Given the description of an element on the screen output the (x, y) to click on. 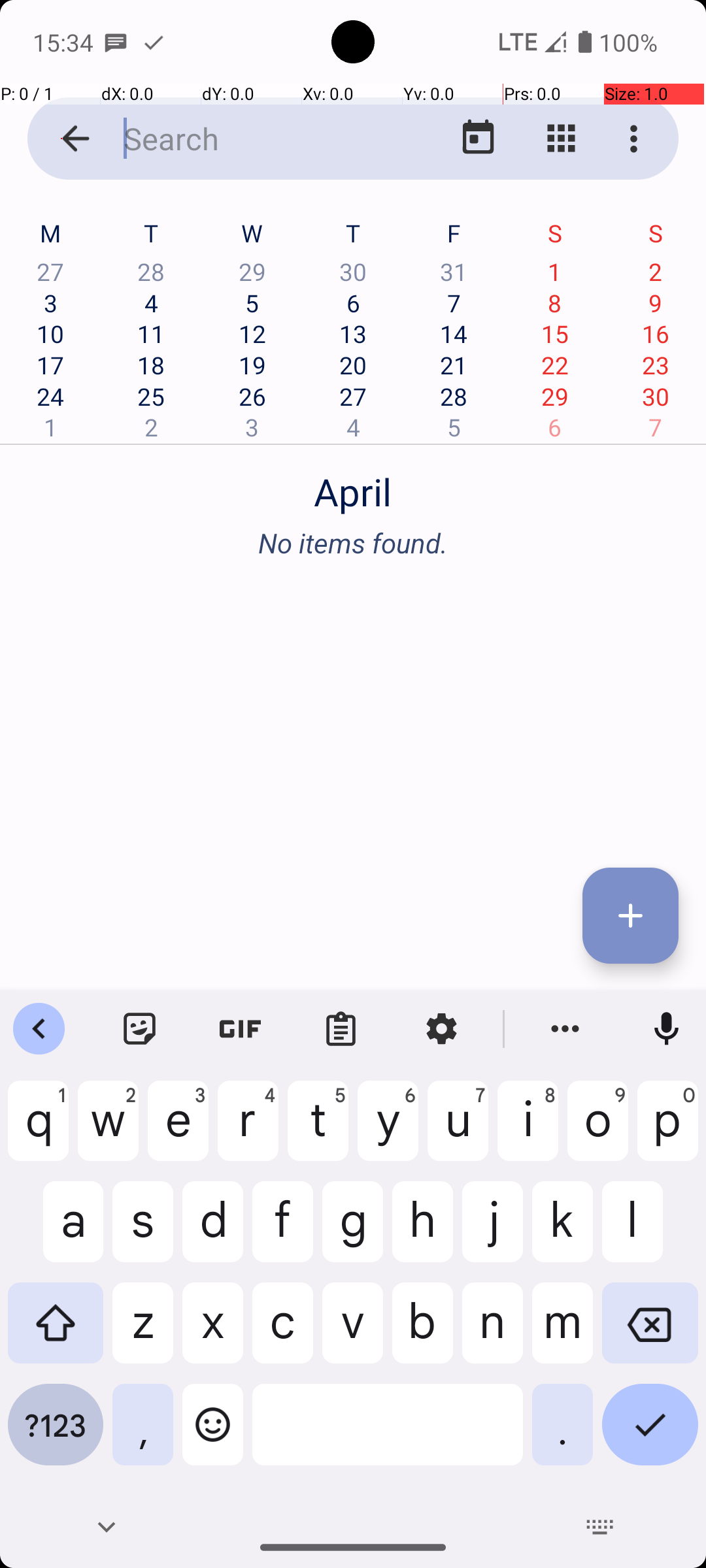
April Element type: android.widget.TextView (352, 483)
